Given the description of an element on the screen output the (x, y) to click on. 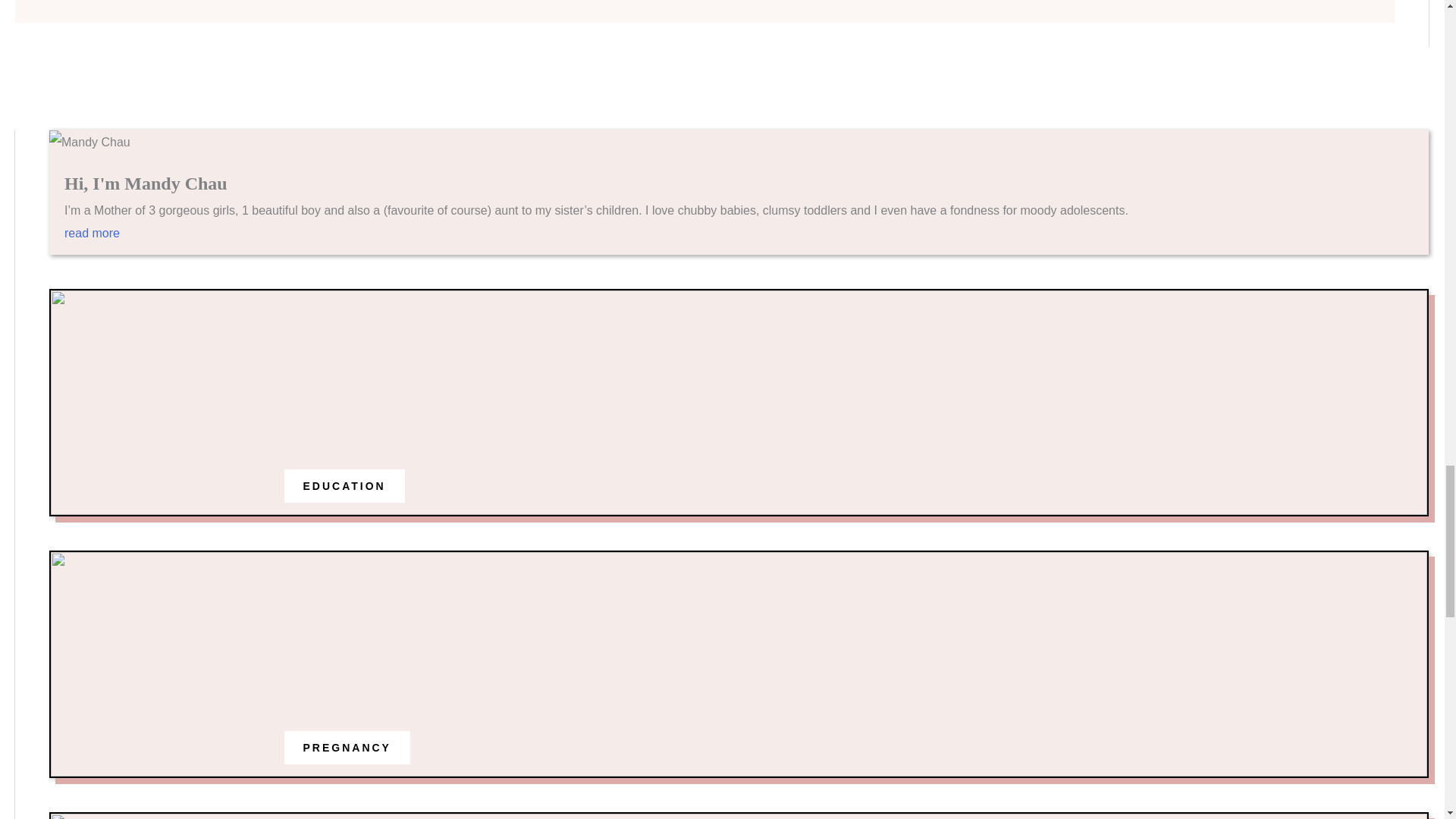
EDUCATION (344, 485)
PREGNANCY (346, 747)
read more (738, 240)
